Given the description of an element on the screen output the (x, y) to click on. 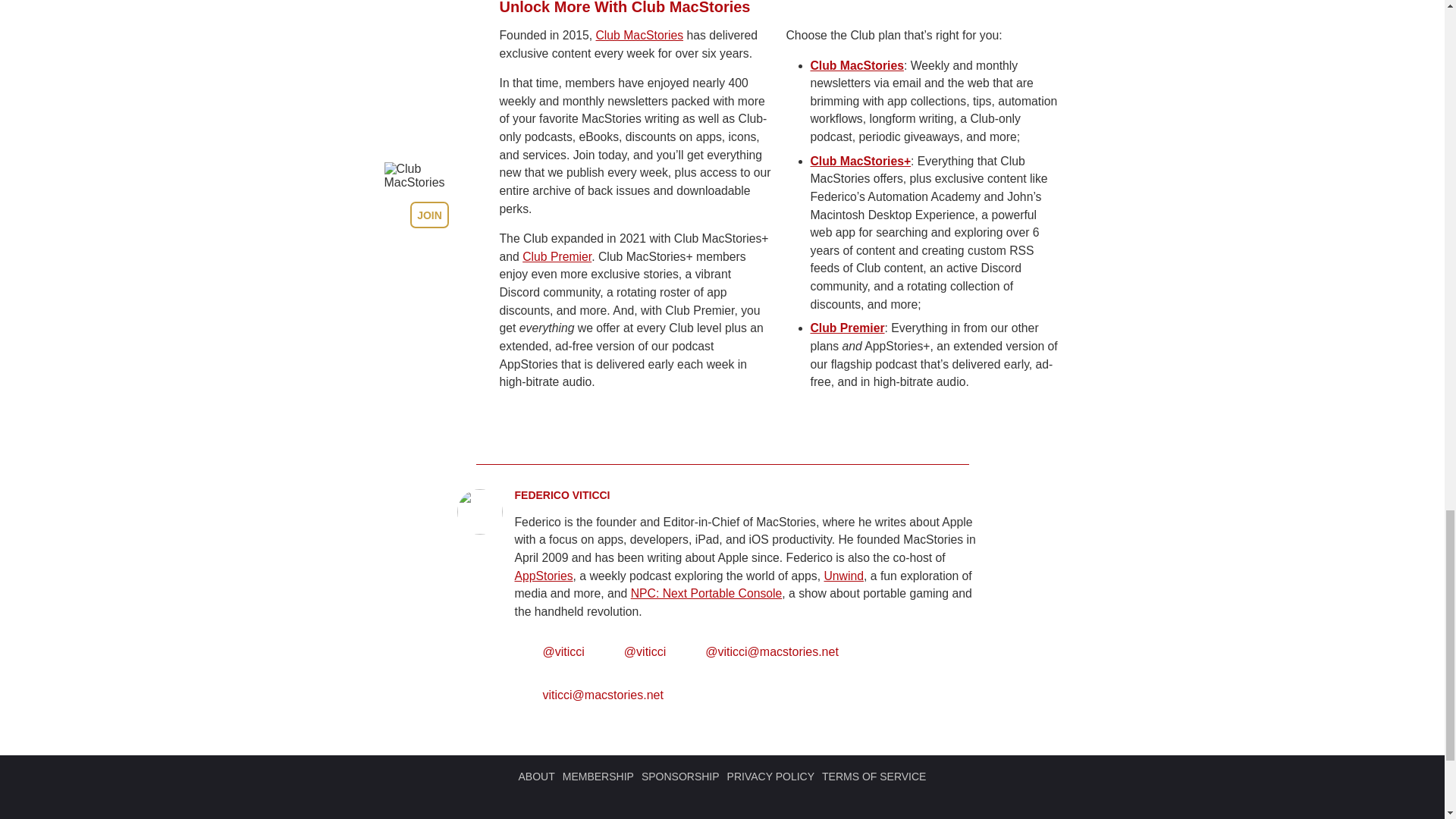
Club MacStories (638, 34)
JOIN (429, 214)
Club Premier (556, 256)
Club Premier (846, 327)
Posts by Federico Viticci (561, 494)
Club MacStories (855, 65)
